Given the description of an element on the screen output the (x, y) to click on. 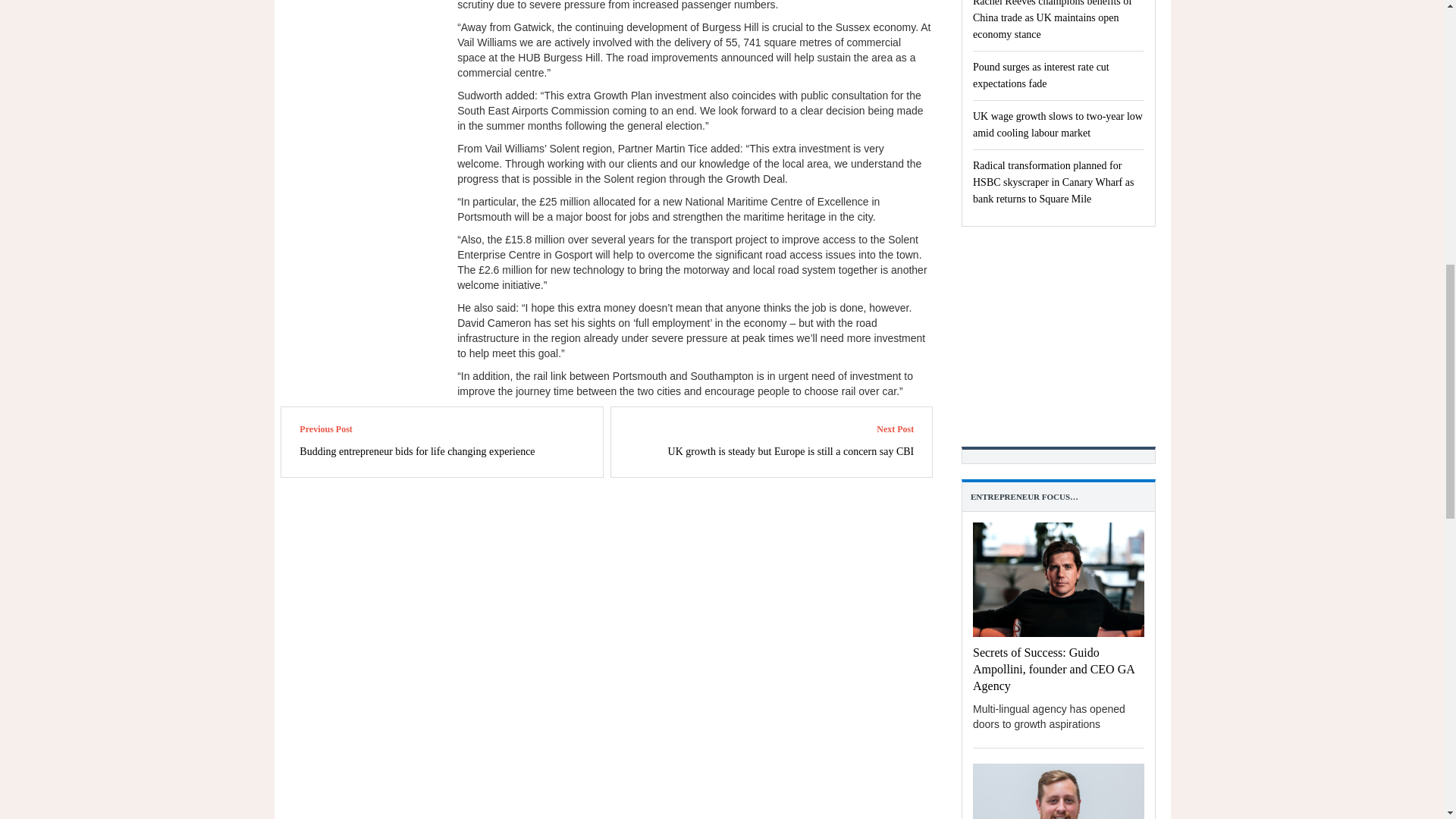
UK growth is steady but Europe is still a concern say CBI (791, 451)
Budding entrepreneur bids for life changing experience (416, 451)
